Given the description of an element on the screen output the (x, y) to click on. 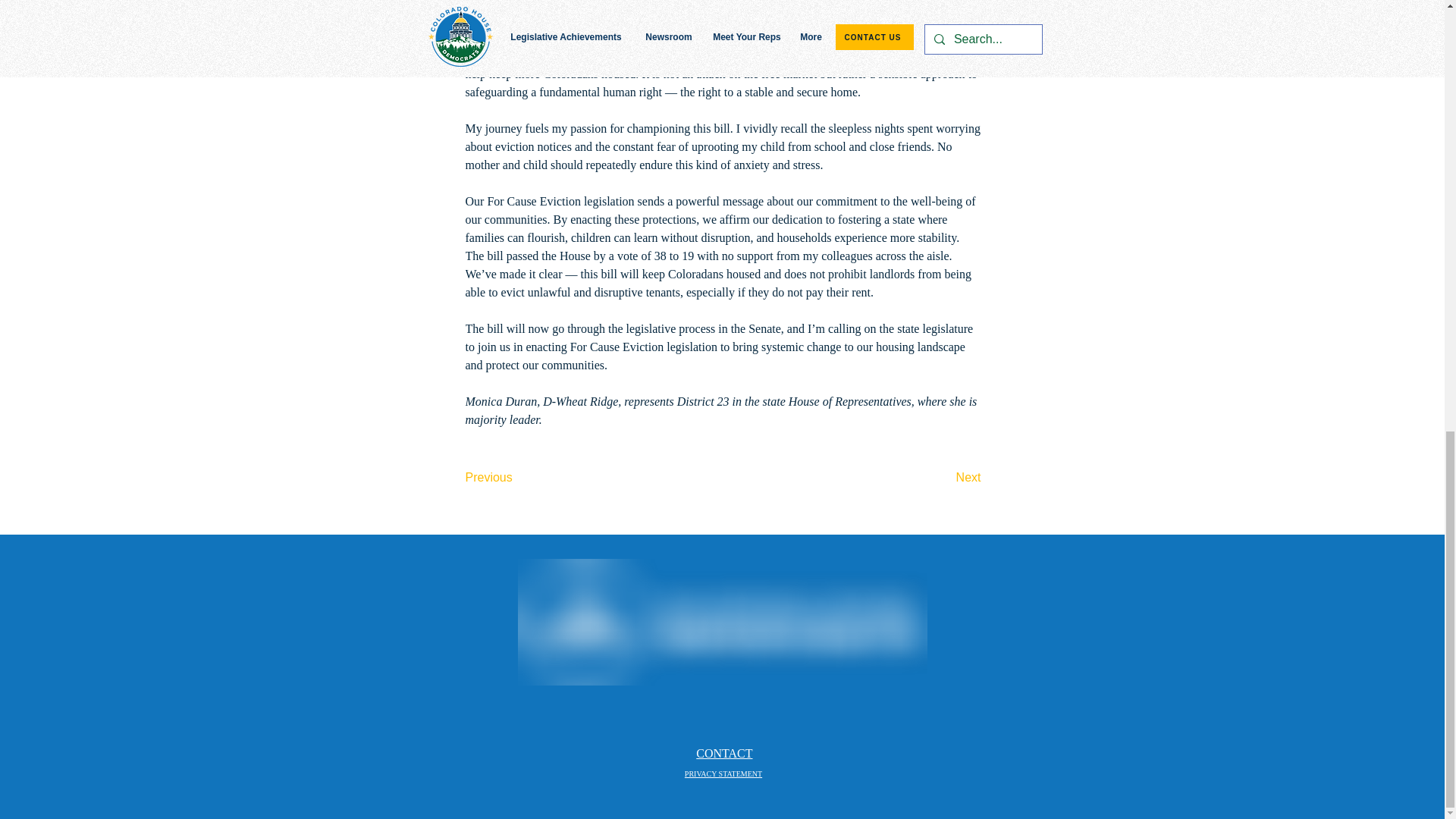
CONTACT (723, 753)
PRIVACY STATEMENT (722, 773)
Next (943, 477)
Previous (515, 477)
